Given the description of an element on the screen output the (x, y) to click on. 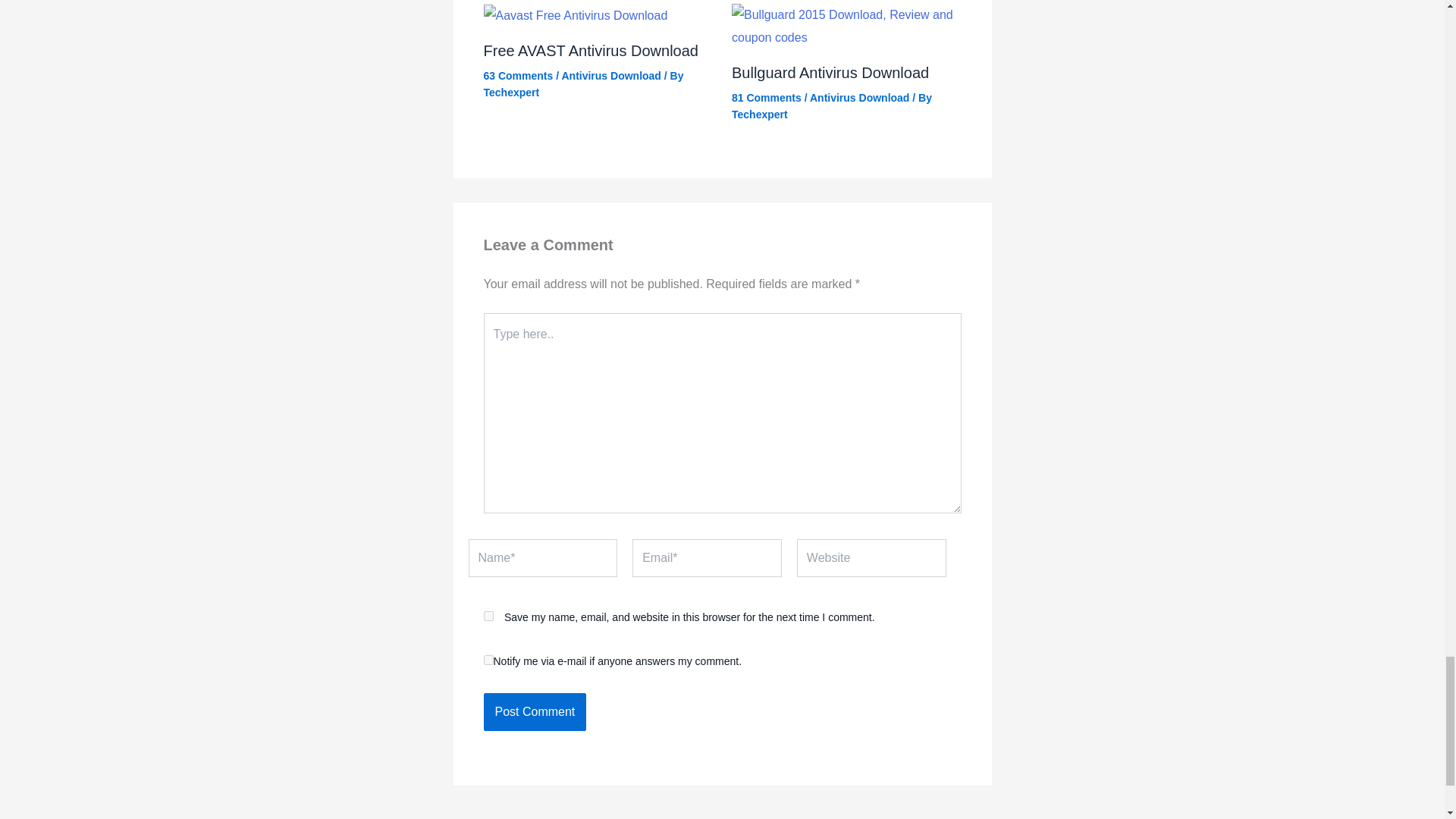
on (488, 660)
yes (488, 615)
View all posts by Techexpert (511, 92)
Post Comment (534, 711)
View all posts by Techexpert (759, 114)
